Given the description of an element on the screen output the (x, y) to click on. 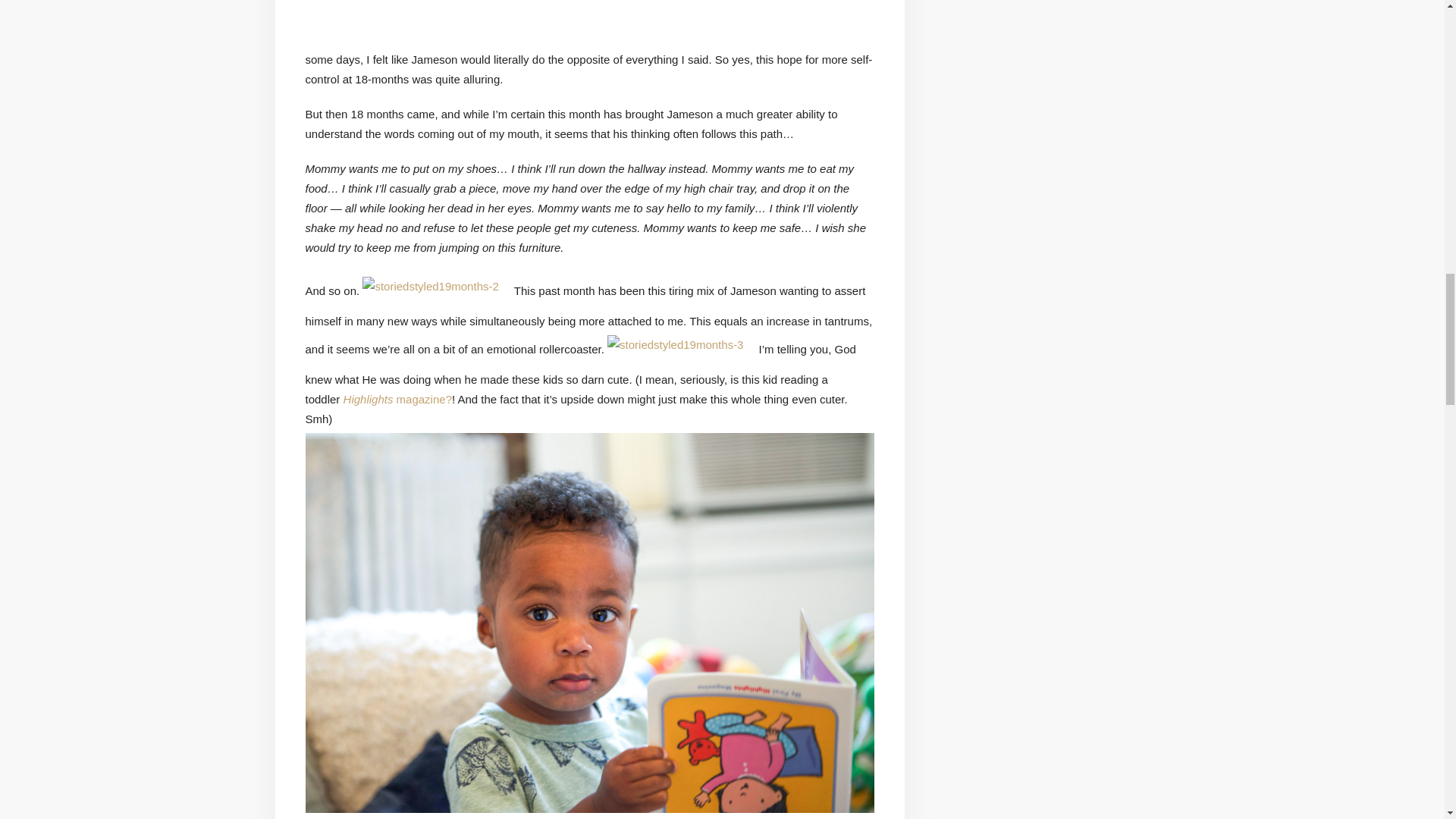
Highlights magazine? (397, 399)
